Given the description of an element on the screen output the (x, y) to click on. 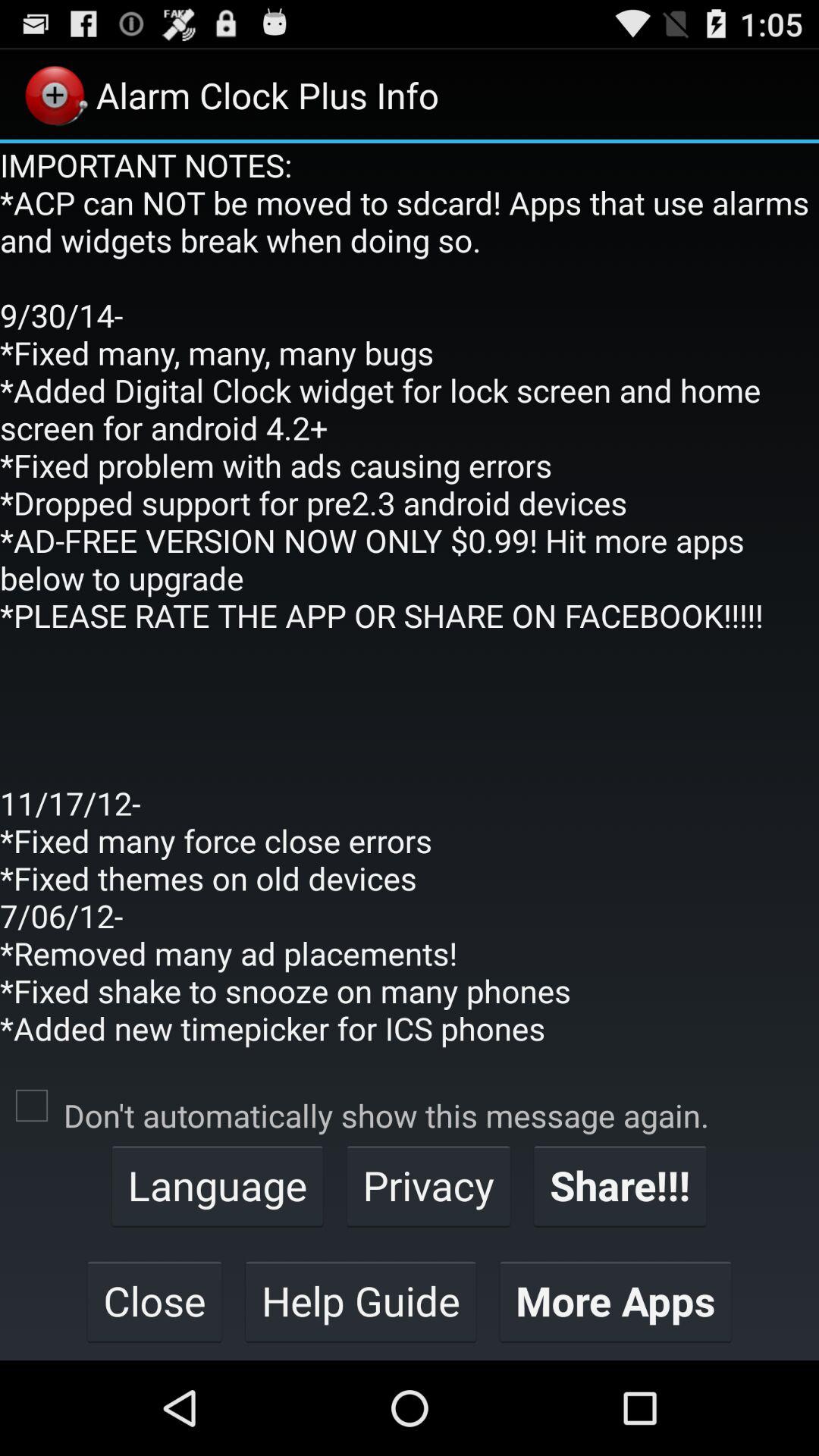
select privacy item (428, 1185)
